Given the description of an element on the screen output the (x, y) to click on. 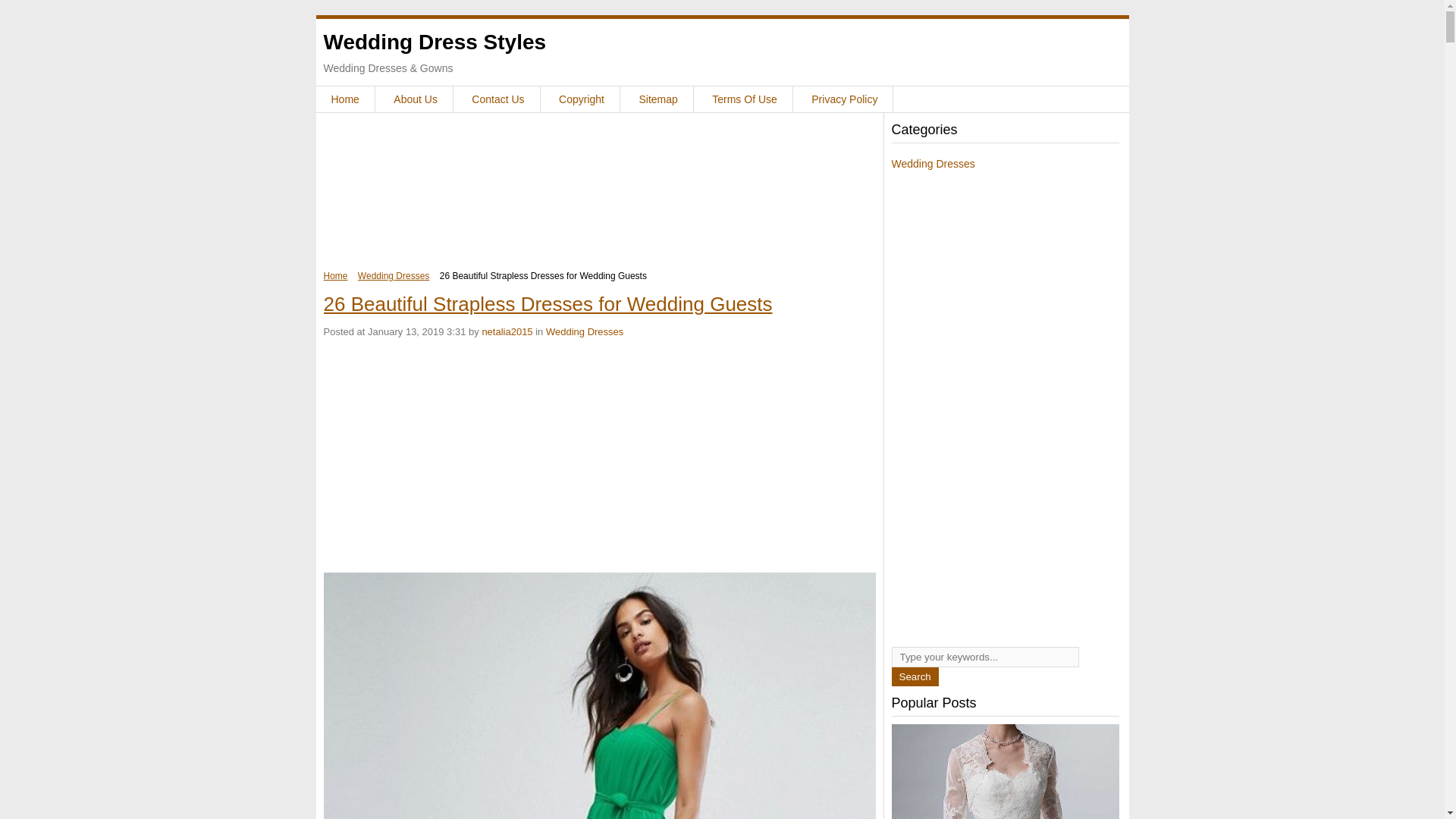
Wedding Dresses (933, 163)
Privacy Policy (843, 99)
Home (344, 99)
About Us (415, 99)
netalia2015 (506, 331)
26 Beautiful Strapless Dresses for Wedding Guests (547, 303)
Search (915, 676)
Wedding Dresses (393, 276)
Copyright (581, 99)
Terms Of Use (744, 99)
Wedding Dresses (584, 331)
Search (915, 676)
Contact Us (497, 99)
Wedding Dress Styles (434, 42)
Home (335, 276)
